Given the description of an element on the screen output the (x, y) to click on. 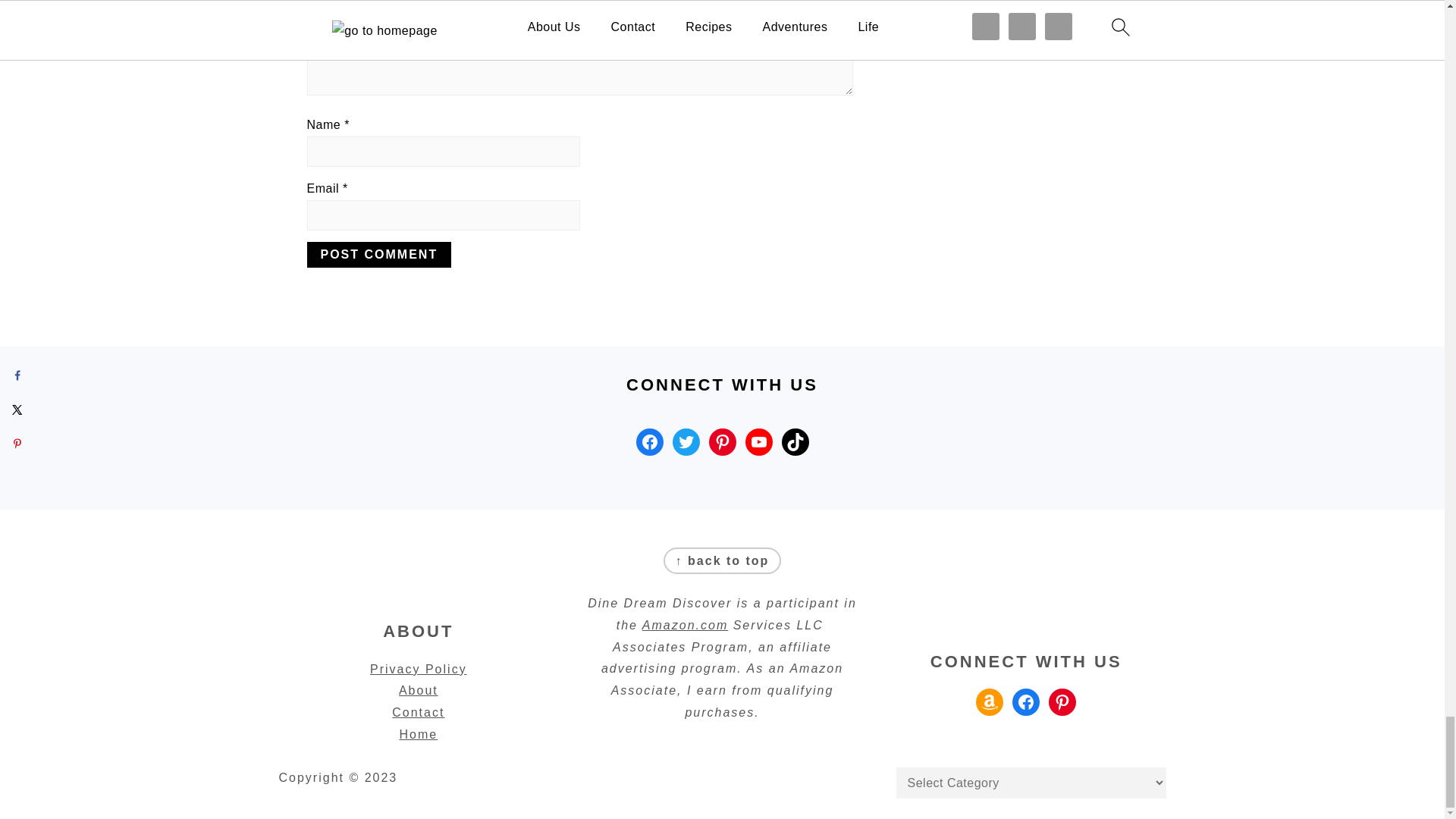
Post Comment (378, 254)
